Given the description of an element on the screen output the (x, y) to click on. 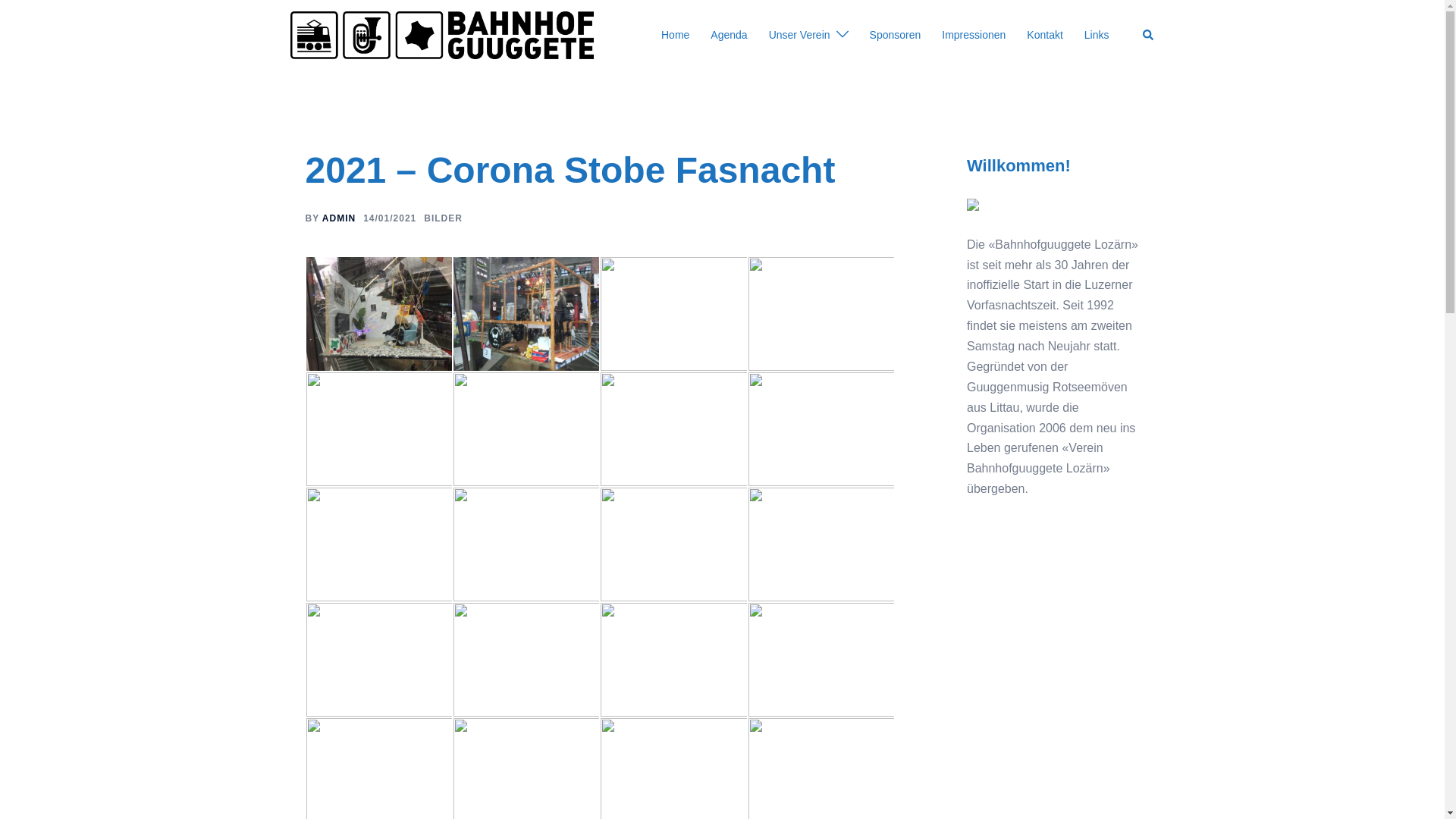
14/01/2021 Element type: text (389, 218)
Unser Verein Element type: text (799, 35)
Agenda Element type: text (728, 35)
Kontakt Element type: text (1044, 35)
BILDER Element type: text (442, 218)
ADMIN Element type: text (338, 218)
Sponsoren Element type: text (895, 35)
Links Element type: text (1096, 35)
Search Element type: text (1148, 34)
Impressionen Element type: text (973, 35)
Home Element type: text (675, 35)
